Given the description of an element on the screen output the (x, y) to click on. 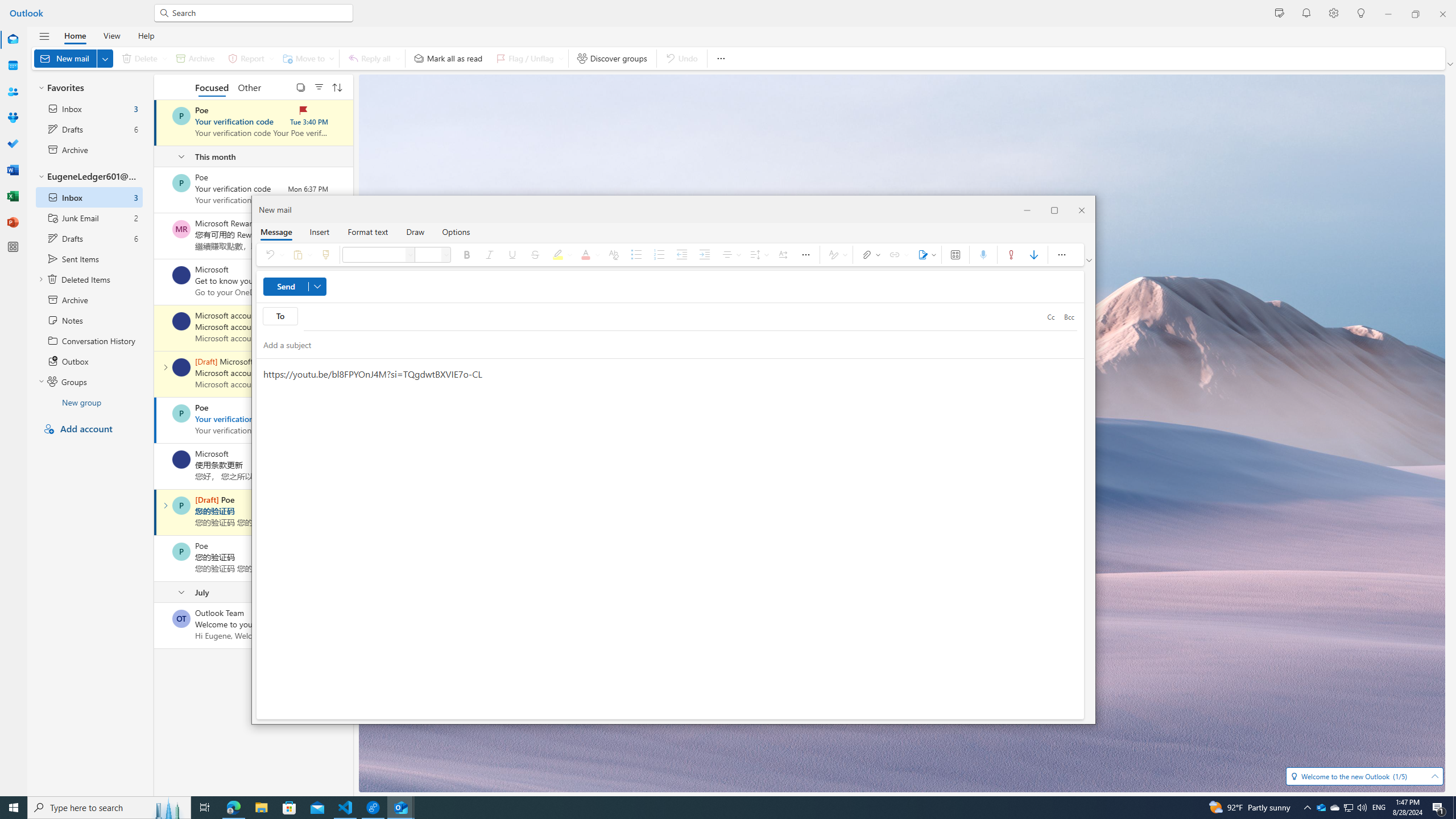
Archive (194, 58)
To Do (12, 143)
Apps (954, 254)
Tray Input Indicator - English (United States) (1378, 807)
Expand to see more respond options (398, 58)
Notification Chevron (1307, 807)
Font (410, 254)
Maximize (1054, 208)
PowerPoint (12, 222)
Expand to see delete options (164, 58)
People (12, 92)
To Do (12, 143)
Start (13, 807)
Expand conversation (164, 505)
Format painter (325, 254)
